Given the description of an element on the screen output the (x, y) to click on. 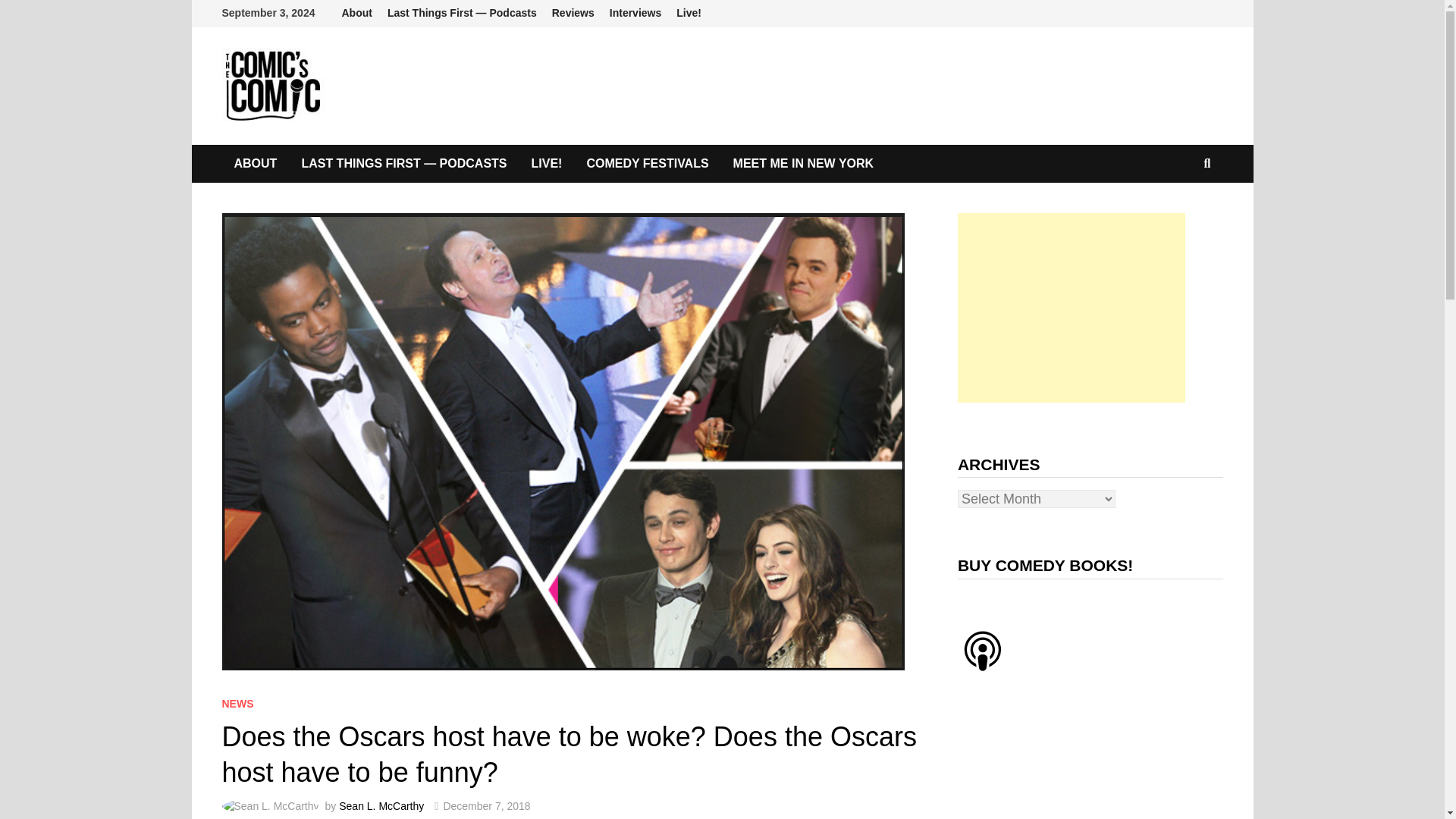
About (355, 13)
Sean L. McCarthy (381, 806)
LIVE! (547, 163)
Reviews (573, 13)
NEWS (237, 703)
Interviews (635, 13)
December 7, 2018 (485, 806)
Live! (688, 13)
COMEDY FESTIVALS (646, 163)
MEET ME IN NEW YORK (803, 163)
